Given the description of an element on the screen output the (x, y) to click on. 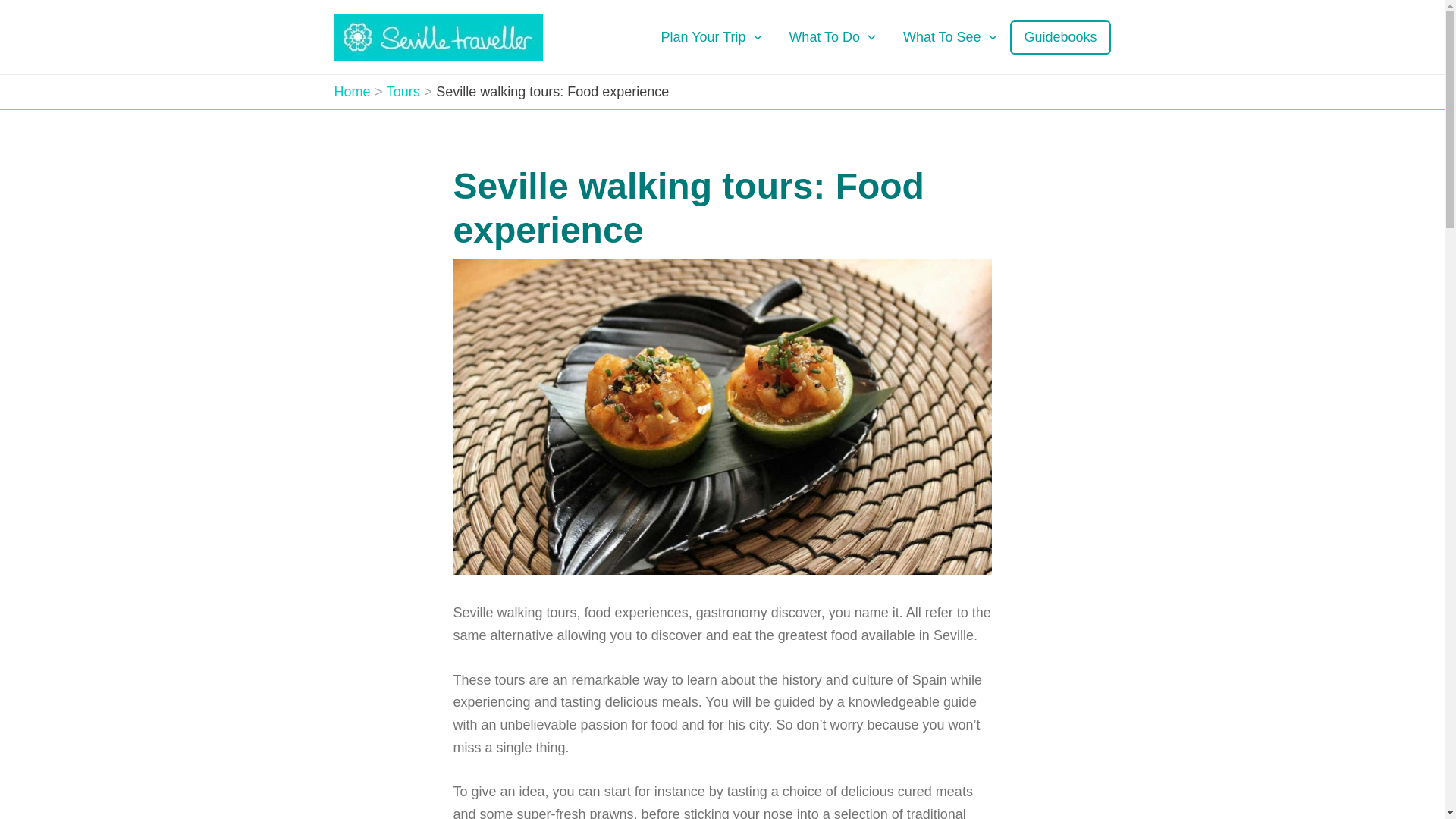
Guidebooks (1059, 36)
What To Do (831, 36)
Plan Your Trip (711, 36)
What To See (949, 36)
